Given the description of an element on the screen output the (x, y) to click on. 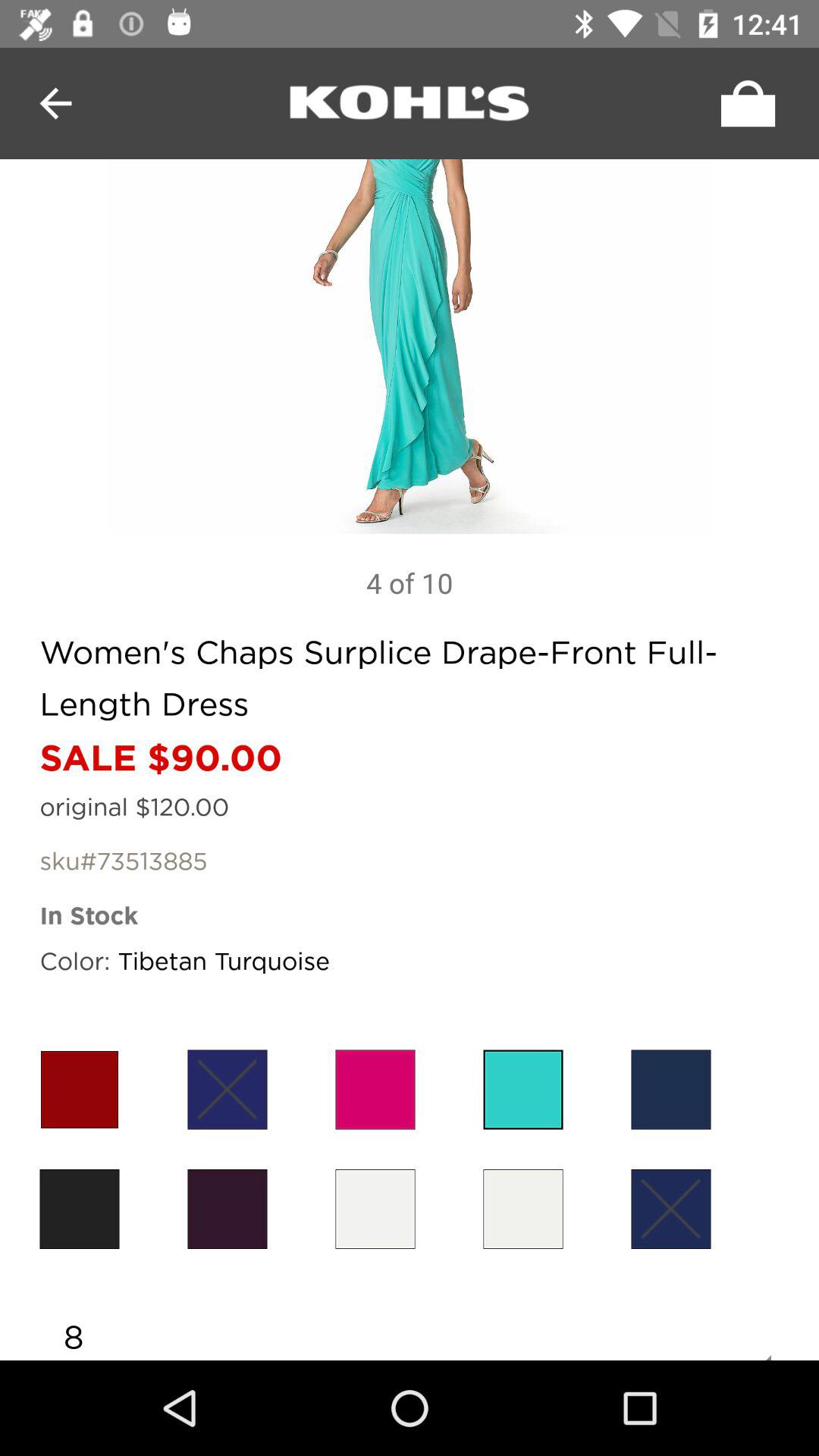
open image (409, 346)
